Given the description of an element on the screen output the (x, y) to click on. 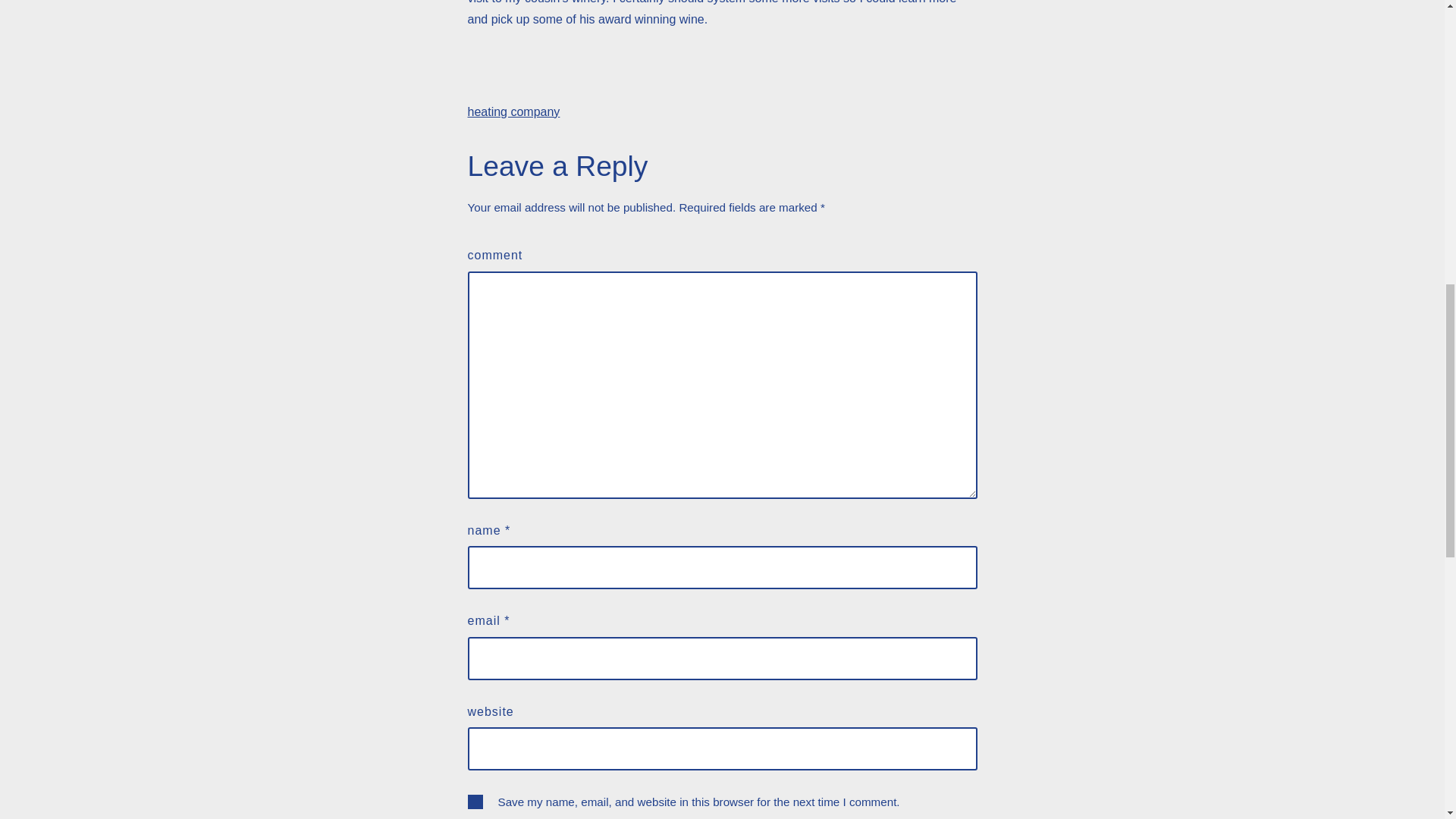
heating company (513, 111)
